Given the description of an element on the screen output the (x, y) to click on. 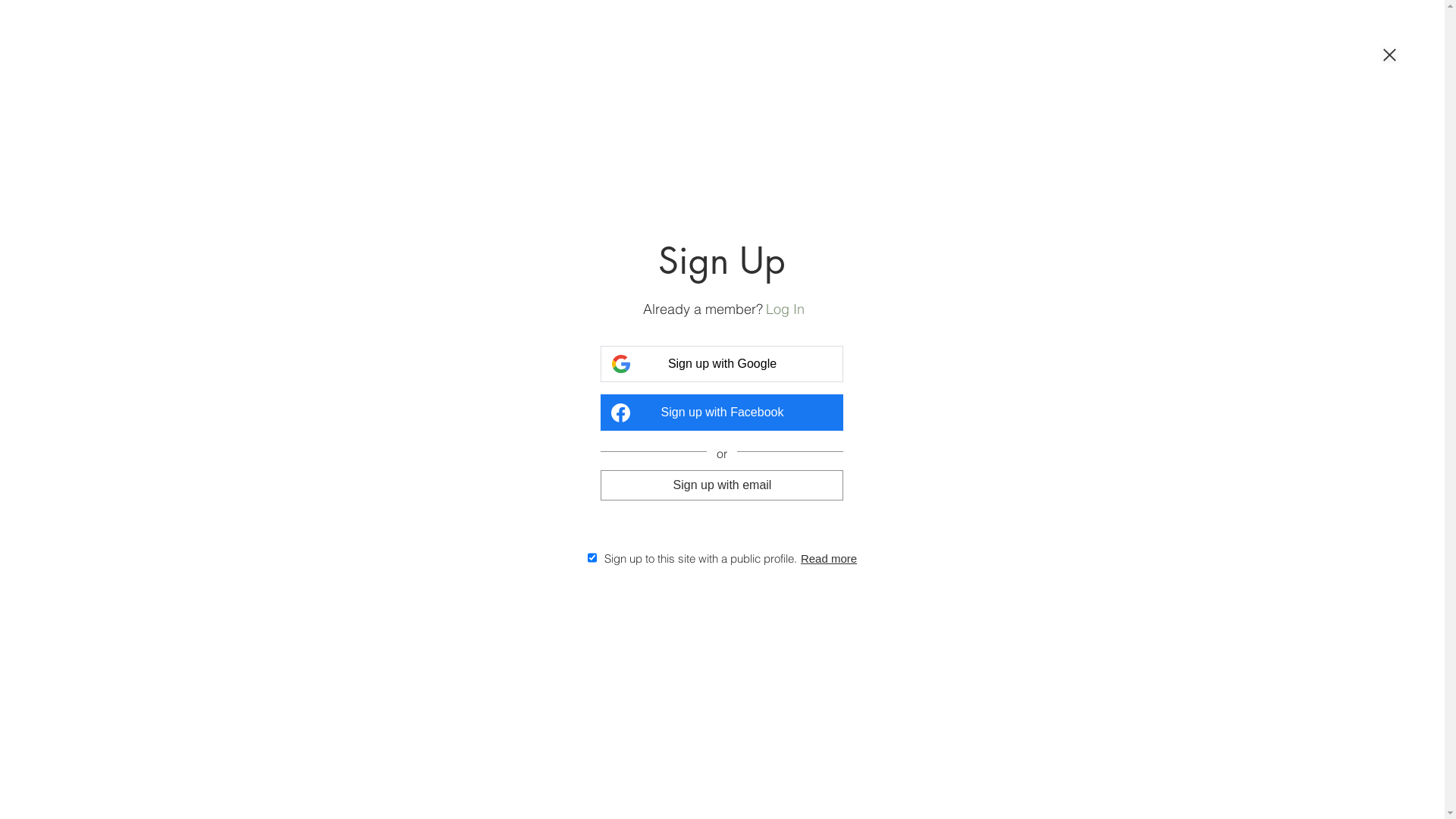
Sign up with Facebook Element type: text (721, 412)
Read more Element type: text (828, 558)
Sign up with email Element type: text (721, 485)
Sign up with Google Element type: text (721, 363)
Log In Element type: text (784, 309)
